Given the description of an element on the screen output the (x, y) to click on. 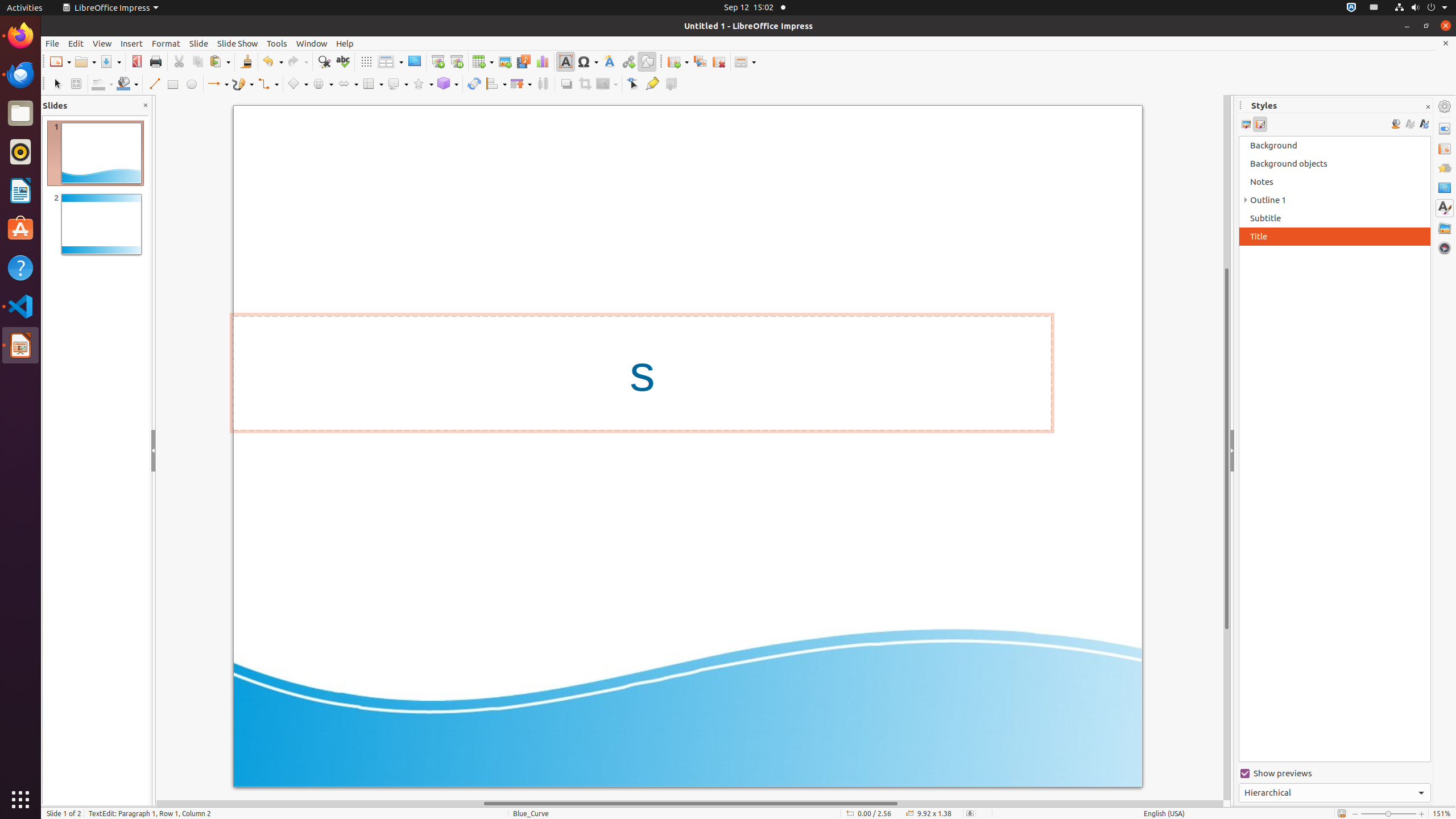
Format Element type: menu (165, 43)
Distribution Element type: push-button (542, 83)
File Element type: menu (51, 43)
Gallery Element type: radio-button (1444, 227)
Show previews Element type: check-box (1334, 773)
